Given the description of an element on the screen output the (x, y) to click on. 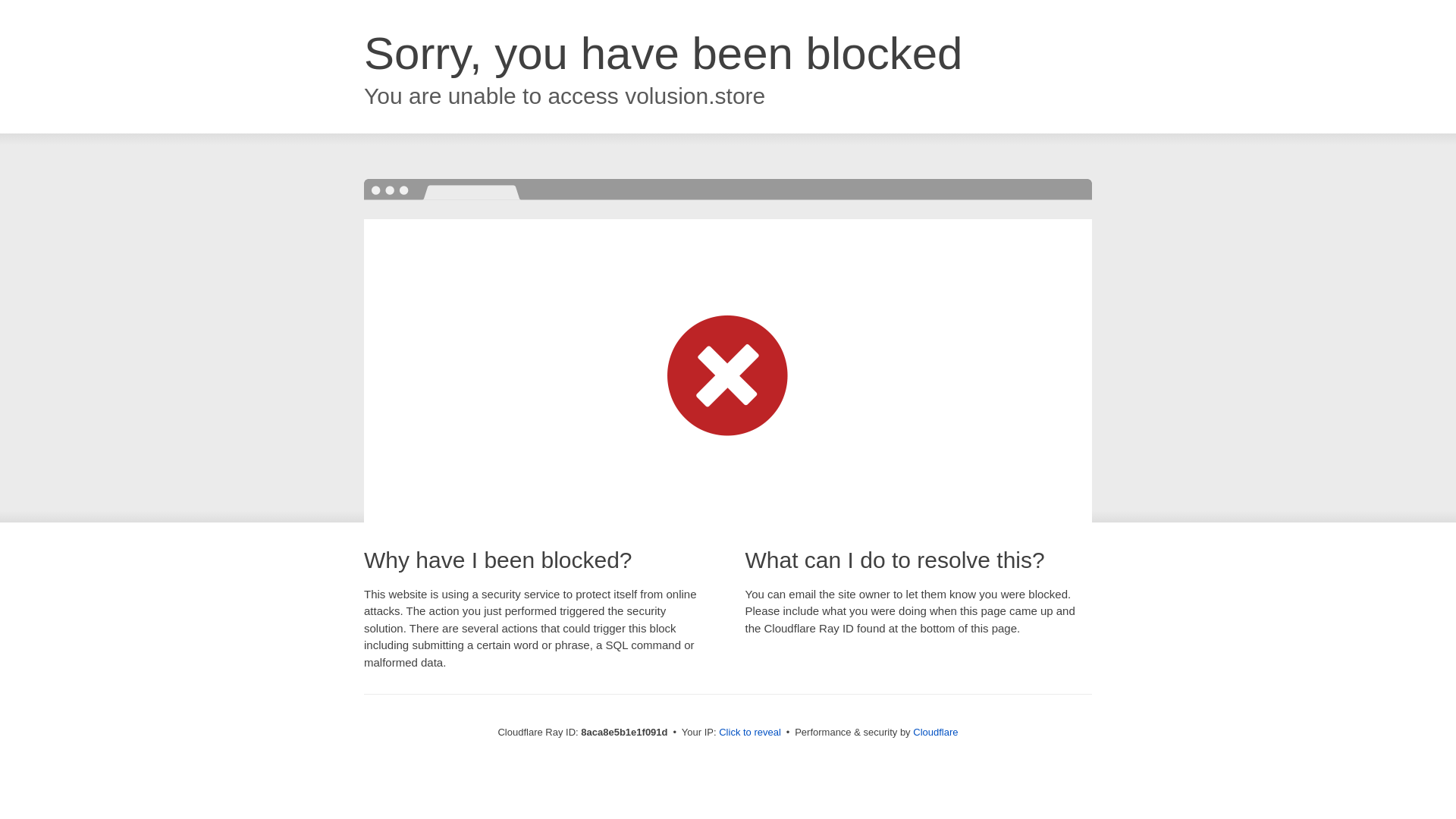
Click to reveal (749, 732)
Cloudflare (935, 731)
